Given the description of an element on the screen output the (x, y) to click on. 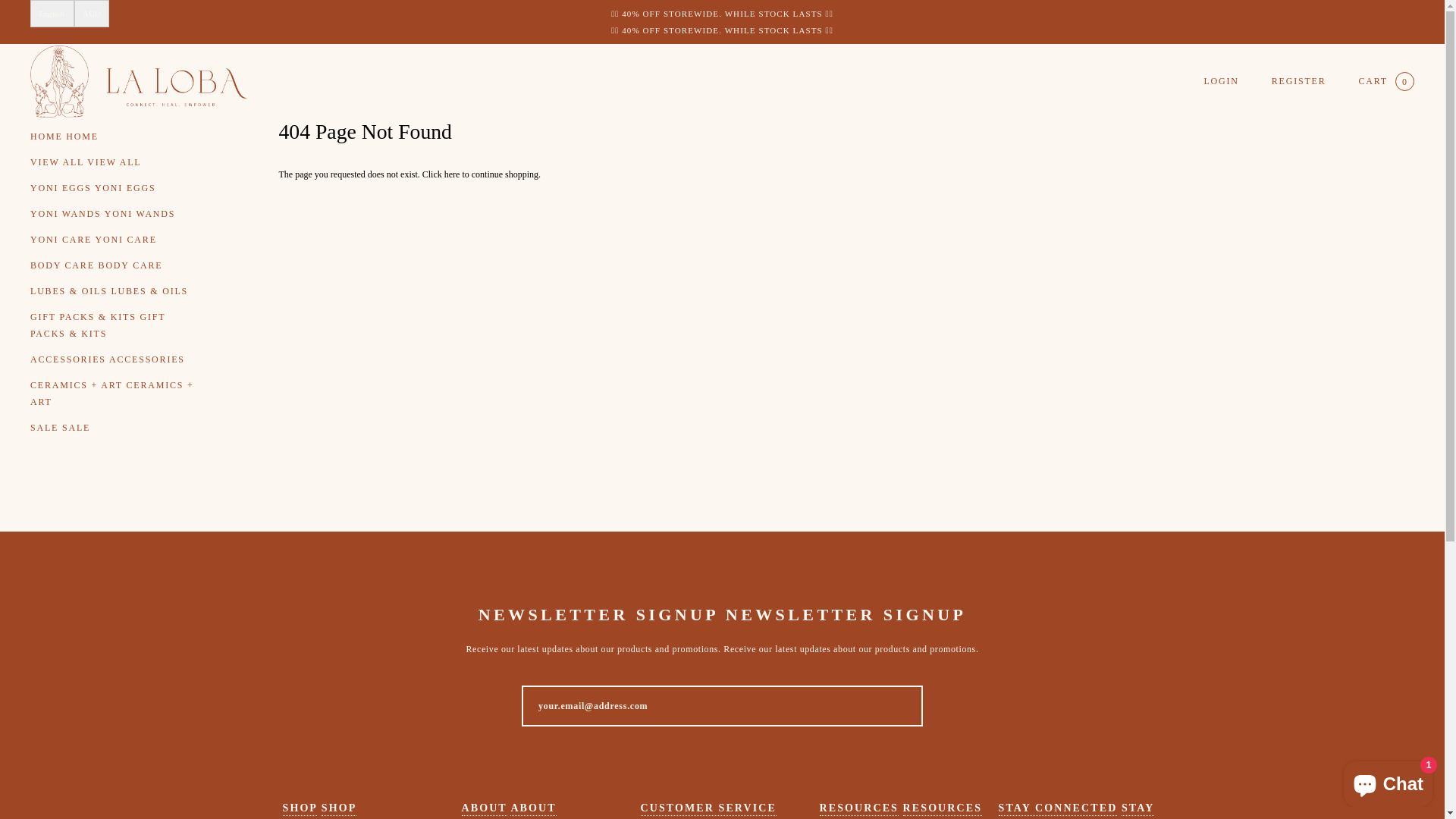
HOME HOME Element type: text (115, 136)
LOGIN Element type: text (1220, 80)
GIFT PACKS & KITS GIFT PACKS & KITS Element type: text (115, 325)
ACCESSORIES ACCESSORIES Element type: text (115, 359)
REGISTER Element type: text (1298, 80)
VIEW ALL VIEW ALL Element type: text (115, 161)
CART
0 Element type: text (1386, 81)
LUBES & OILS LUBES & OILS Element type: text (115, 290)
YONI CARE YONI CARE Element type: text (115, 239)
Click here Element type: text (442, 174)
CERAMICS + ART CERAMICS + ART Element type: text (115, 393)
Shopify online store chat Element type: hover (1388, 780)
SALE SALE Element type: text (115, 427)
BODY CARE BODY CARE Element type: text (115, 265)
YONI WANDS YONI WANDS Element type: text (115, 213)
YONI EGGS YONI EGGS Element type: text (115, 187)
